Given the description of an element on the screen output the (x, y) to click on. 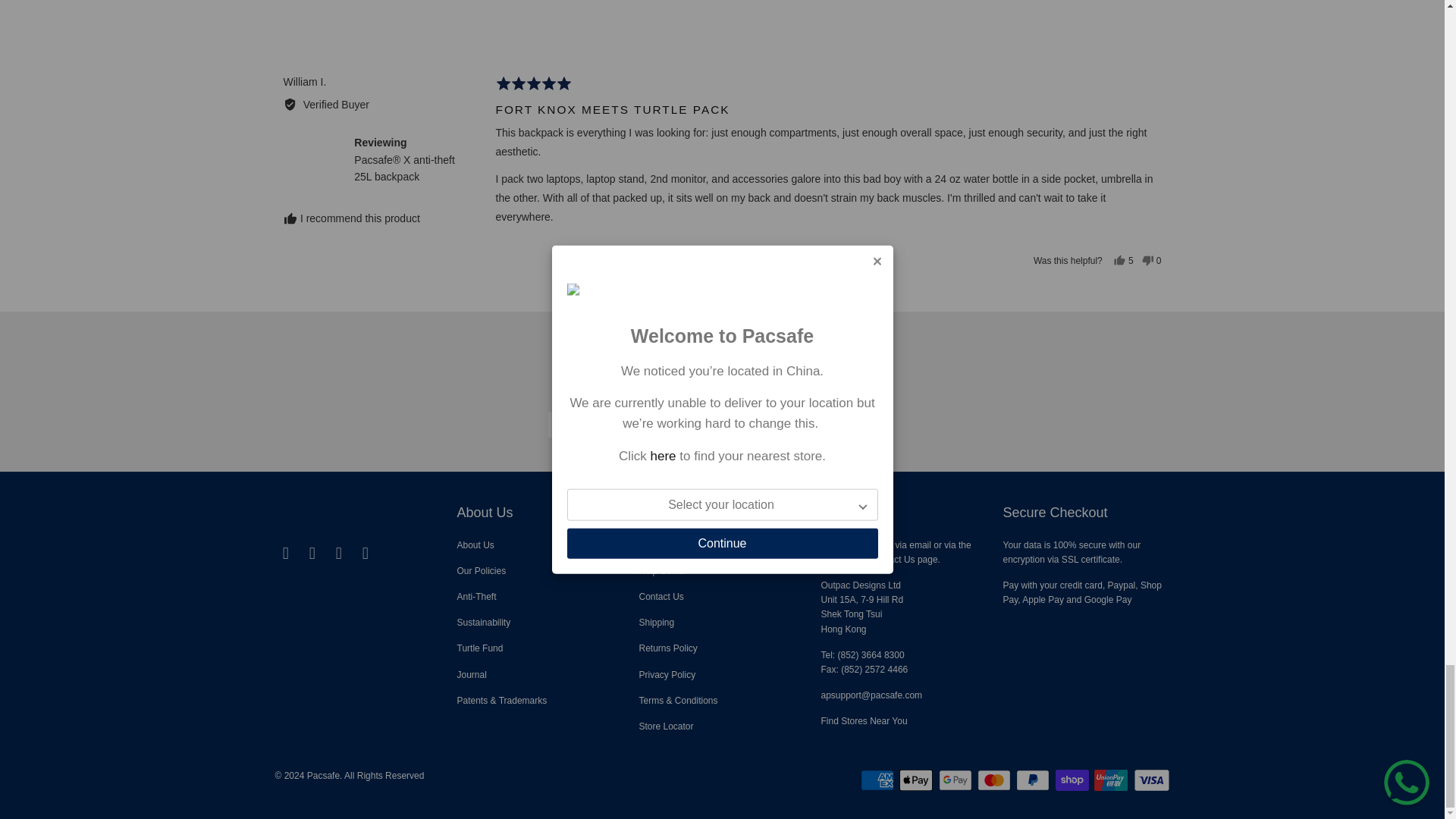
American Express (878, 780)
Union Pay (1112, 780)
Google Pay (957, 780)
Visa (1150, 780)
Apple Pay (917, 780)
Mastercard (994, 780)
PayPal (1034, 780)
Sign Up (842, 424)
Shop Pay (1073, 780)
